Given the description of an element on the screen output the (x, y) to click on. 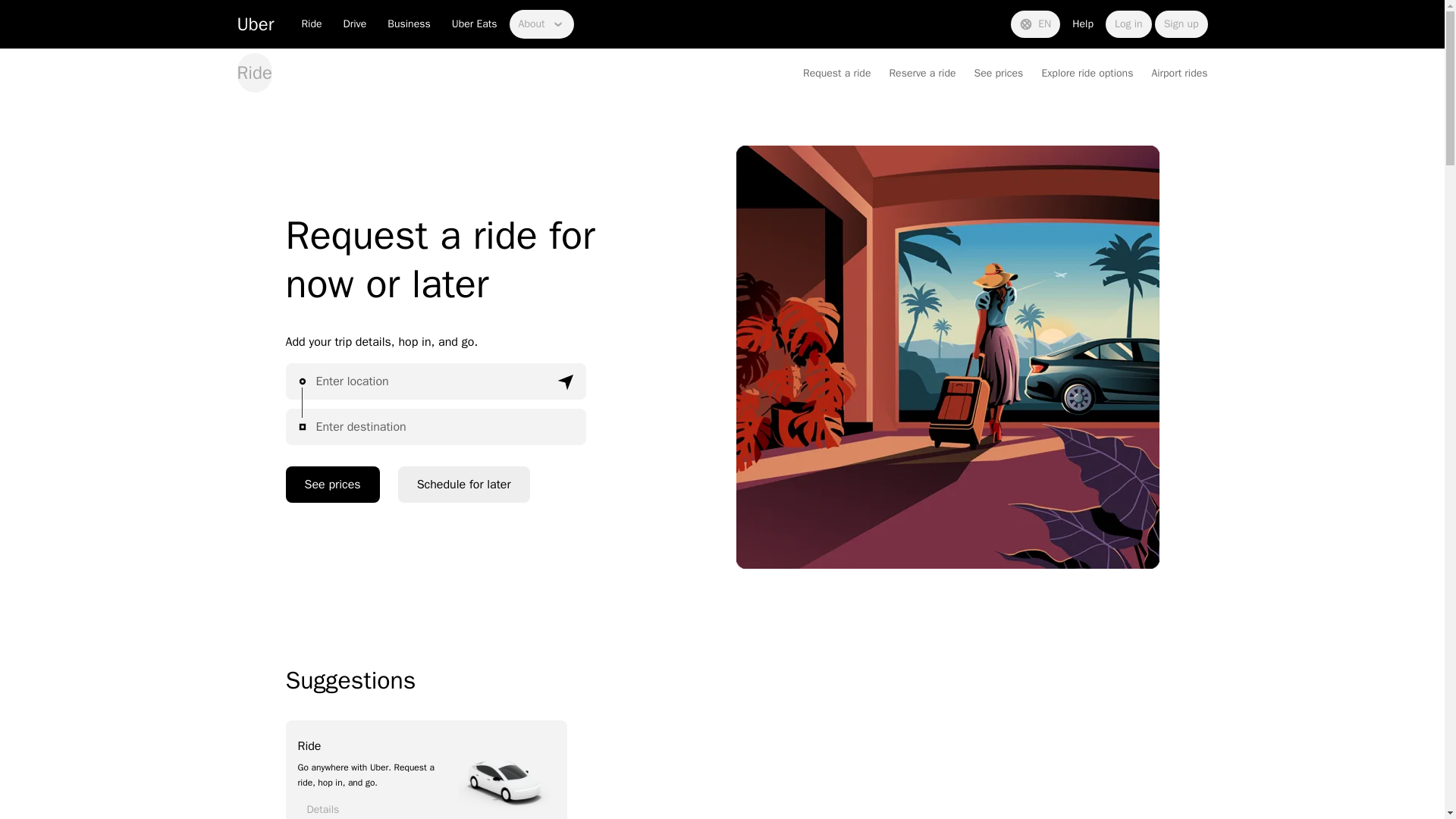
About (541, 23)
Business (408, 23)
Uber (254, 24)
Uber Eats (474, 23)
Ride (311, 23)
Drive (354, 23)
